Given the description of an element on the screen output the (x, y) to click on. 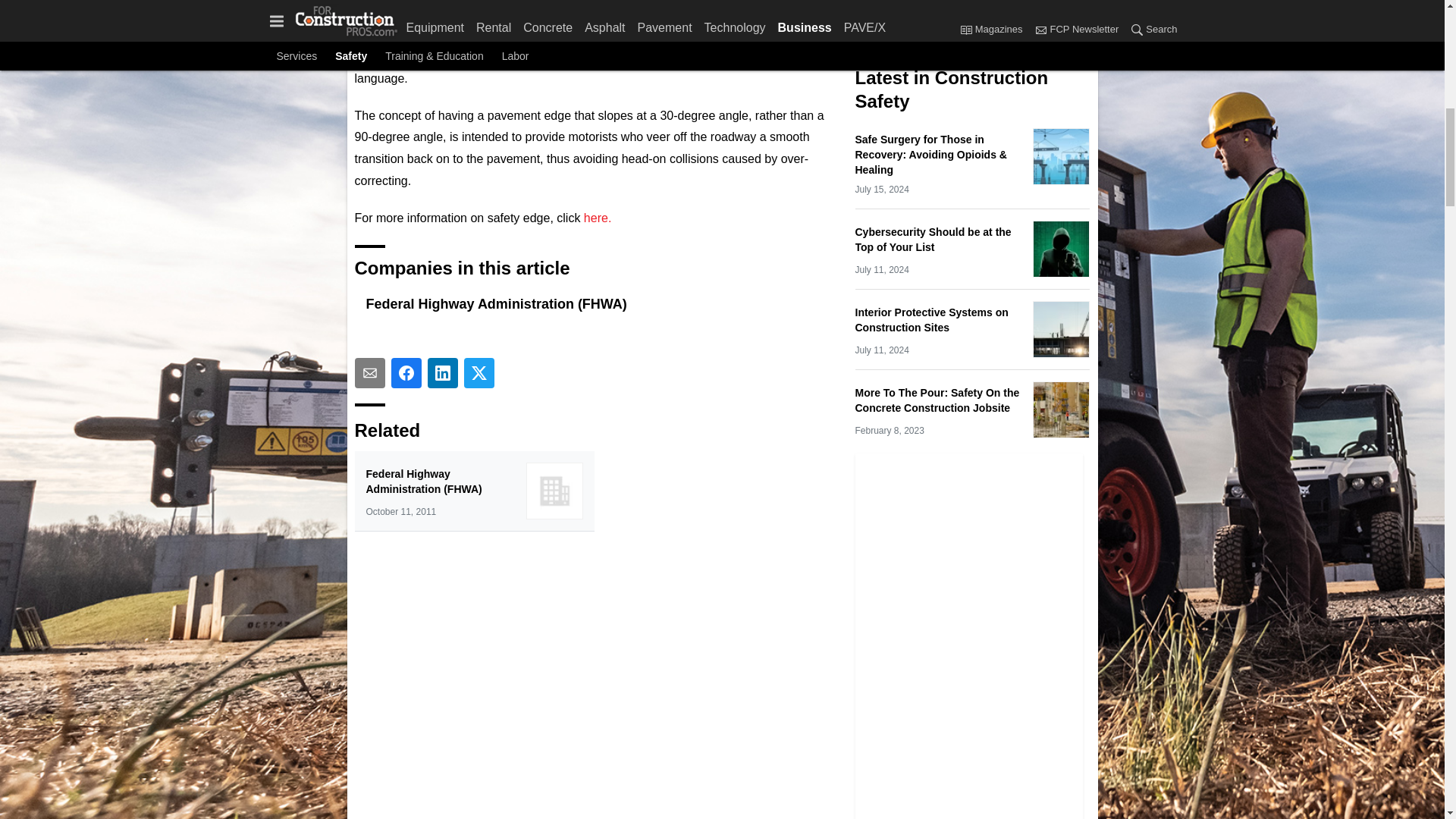
Share To twitter (479, 372)
Share To email (370, 372)
Share To facebook (406, 372)
Share To linkedin (443, 372)
3rd party ad content (969, 18)
